Given the description of an element on the screen output the (x, y) to click on. 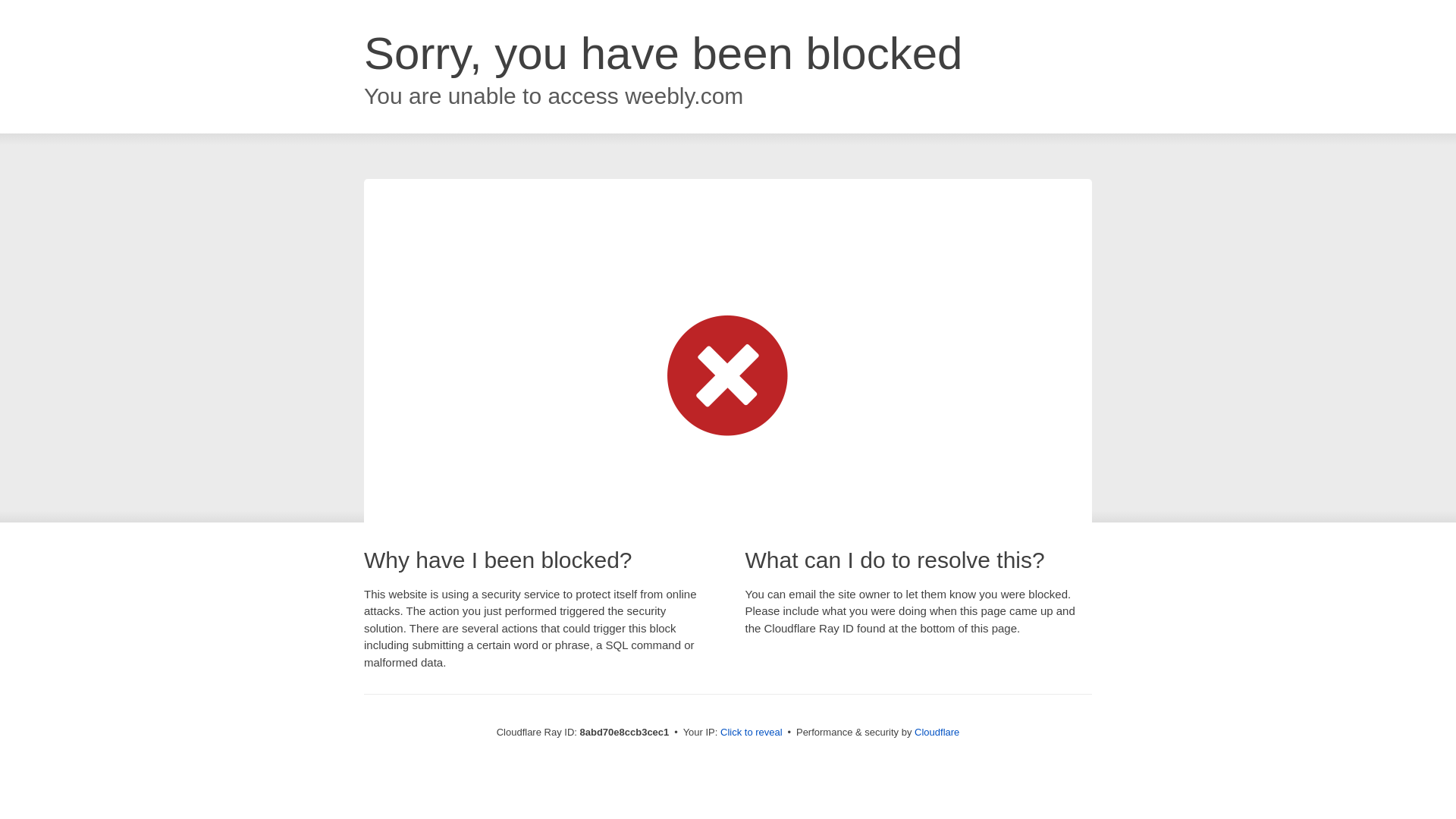
Cloudflare (936, 731)
Click to reveal (751, 732)
